Given the description of an element on the screen output the (x, y) to click on. 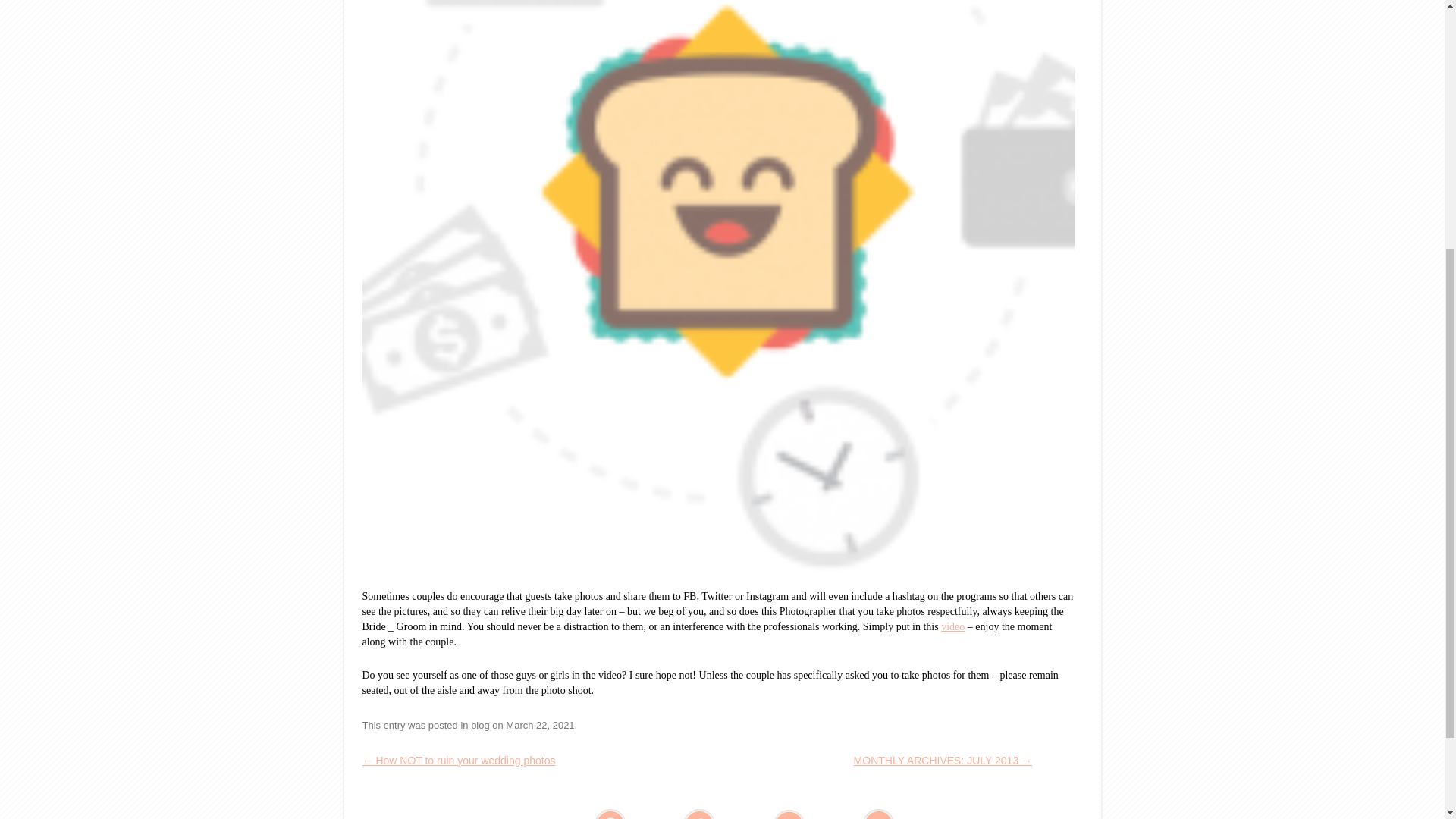
blog (479, 725)
March 22, 2021 (539, 725)
video (951, 626)
11:07 am (539, 725)
